Given the description of an element on the screen output the (x, y) to click on. 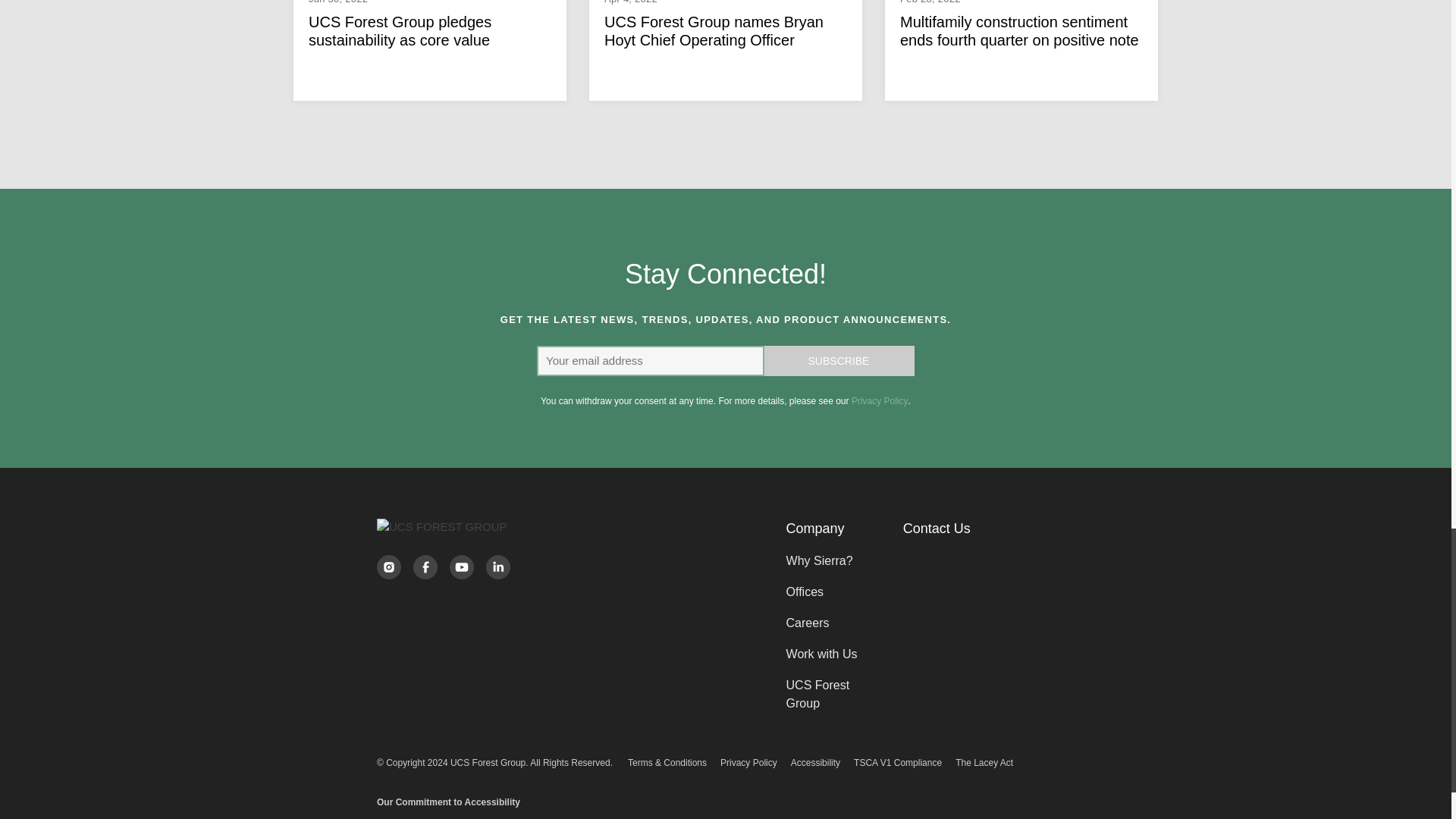
Follow us on Youtube (461, 566)
Follow us on LinkedIn (497, 566)
UCS Forest Group pledges sustainability as core value (429, 31)
Jun 30, 2022 (429, 3)
Follow us on Facebook (424, 566)
UCS Forest Group names Bryan Hoyt Chief Operating Officer (725, 31)
Feb 28, 2022 (1020, 3)
Follow us on Instagram (388, 566)
SUBSCRIBE (838, 360)
